Given the description of an element on the screen output the (x, y) to click on. 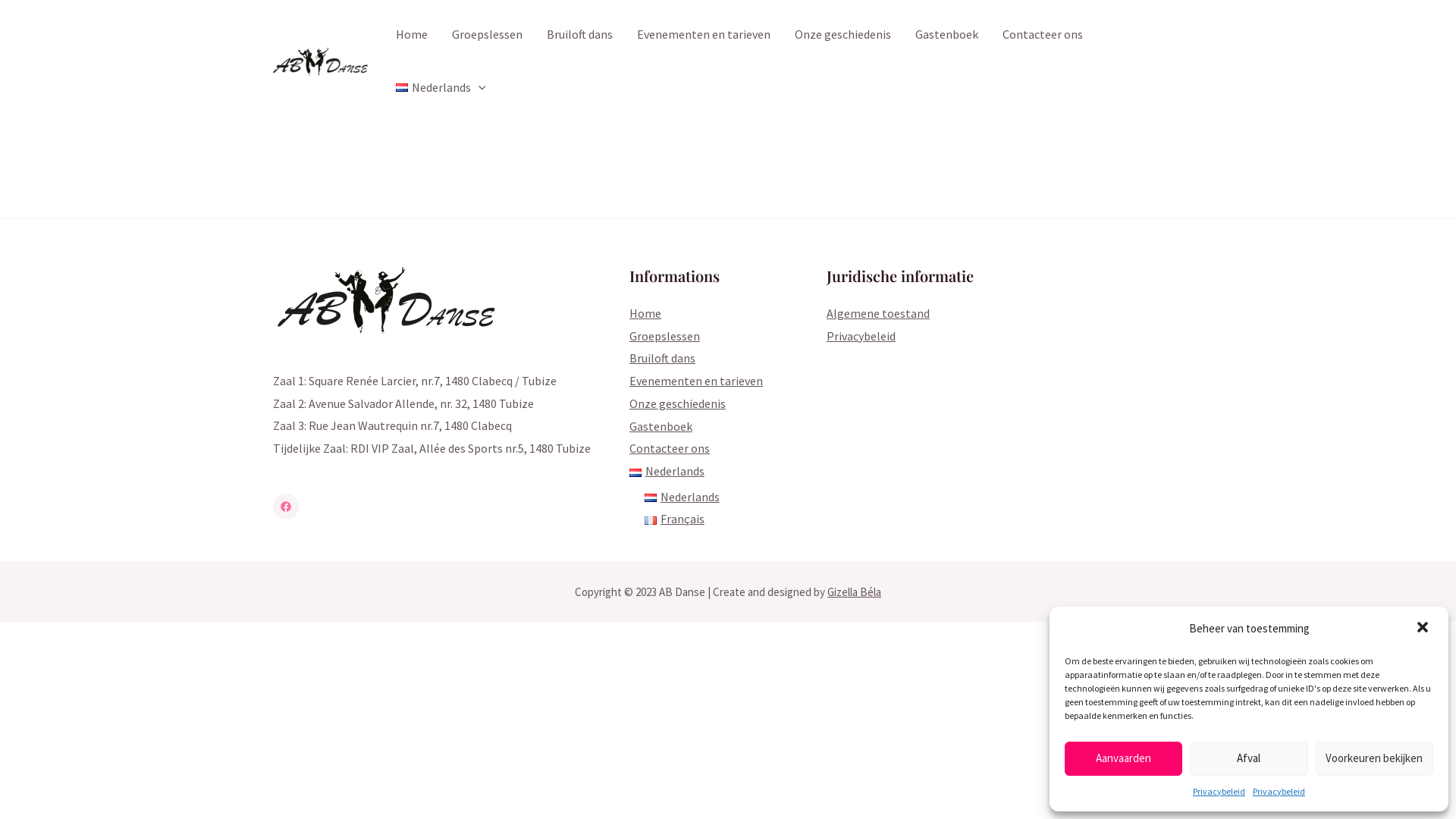
Home Element type: text (645, 312)
Gastenboek Element type: text (660, 425)
Algemene toestand Element type: text (877, 312)
Groepslessen Element type: text (486, 33)
Evenementen en tarieven Element type: text (703, 33)
Privacybeleid Element type: text (1218, 791)
Onze geschiedenis Element type: text (842, 33)
Contacteer ons Element type: text (669, 447)
Gastenboek Element type: text (946, 33)
Groepslessen Element type: text (664, 335)
Nederlands Element type: text (440, 86)
Bruiloft dans Element type: text (662, 357)
Voorkeuren bekijken Element type: text (1374, 758)
Home Element type: text (411, 33)
Privacybeleid Element type: text (1278, 791)
Afval Element type: text (1248, 758)
Nederlands Element type: text (666, 470)
Nederlands Element type: text (681, 496)
Privacybeleid Element type: text (860, 335)
Bruiloft dans Element type: text (579, 33)
Onze geschiedenis Element type: text (677, 403)
Aanvaarden Element type: text (1123, 758)
Contacteer ons Element type: text (1042, 33)
Evenementen en tarieven Element type: text (695, 380)
